Given the description of an element on the screen output the (x, y) to click on. 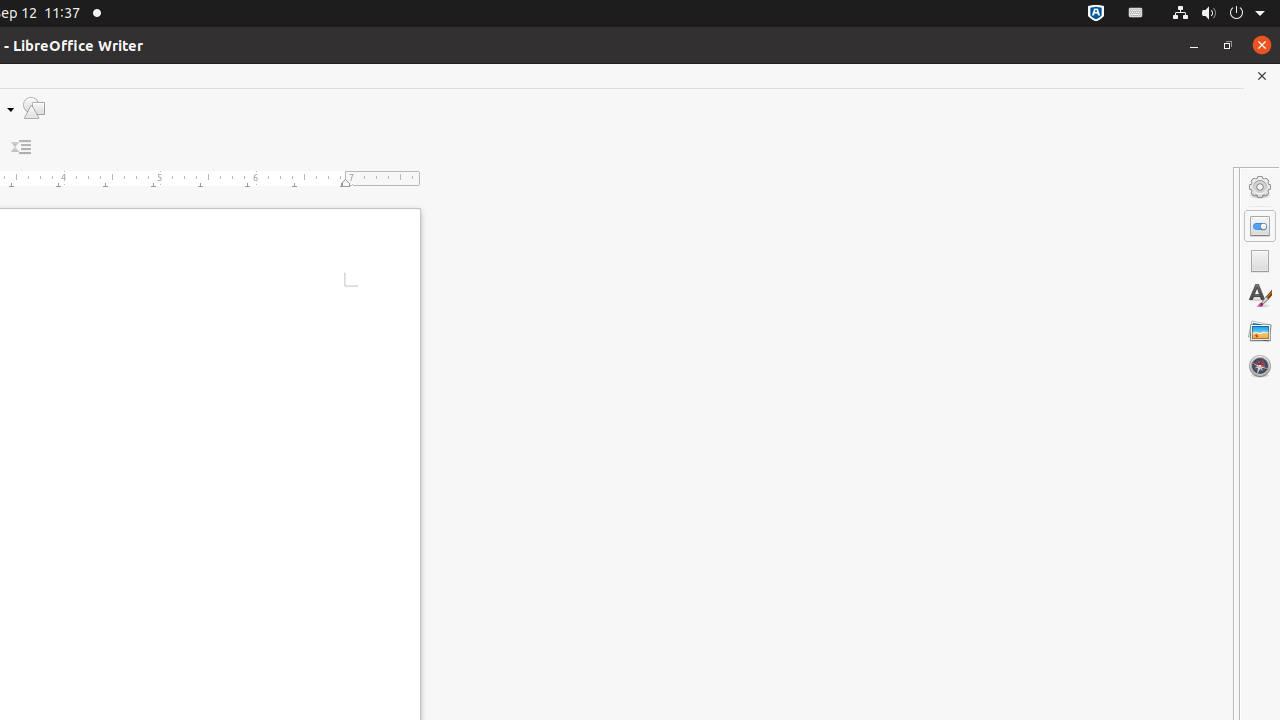
System Element type: menu (1218, 13)
Navigator Element type: radio-button (1260, 366)
Styles Element type: radio-button (1260, 296)
Gallery Element type: radio-button (1260, 331)
Page Element type: radio-button (1260, 261)
